Given the description of an element on the screen output the (x, y) to click on. 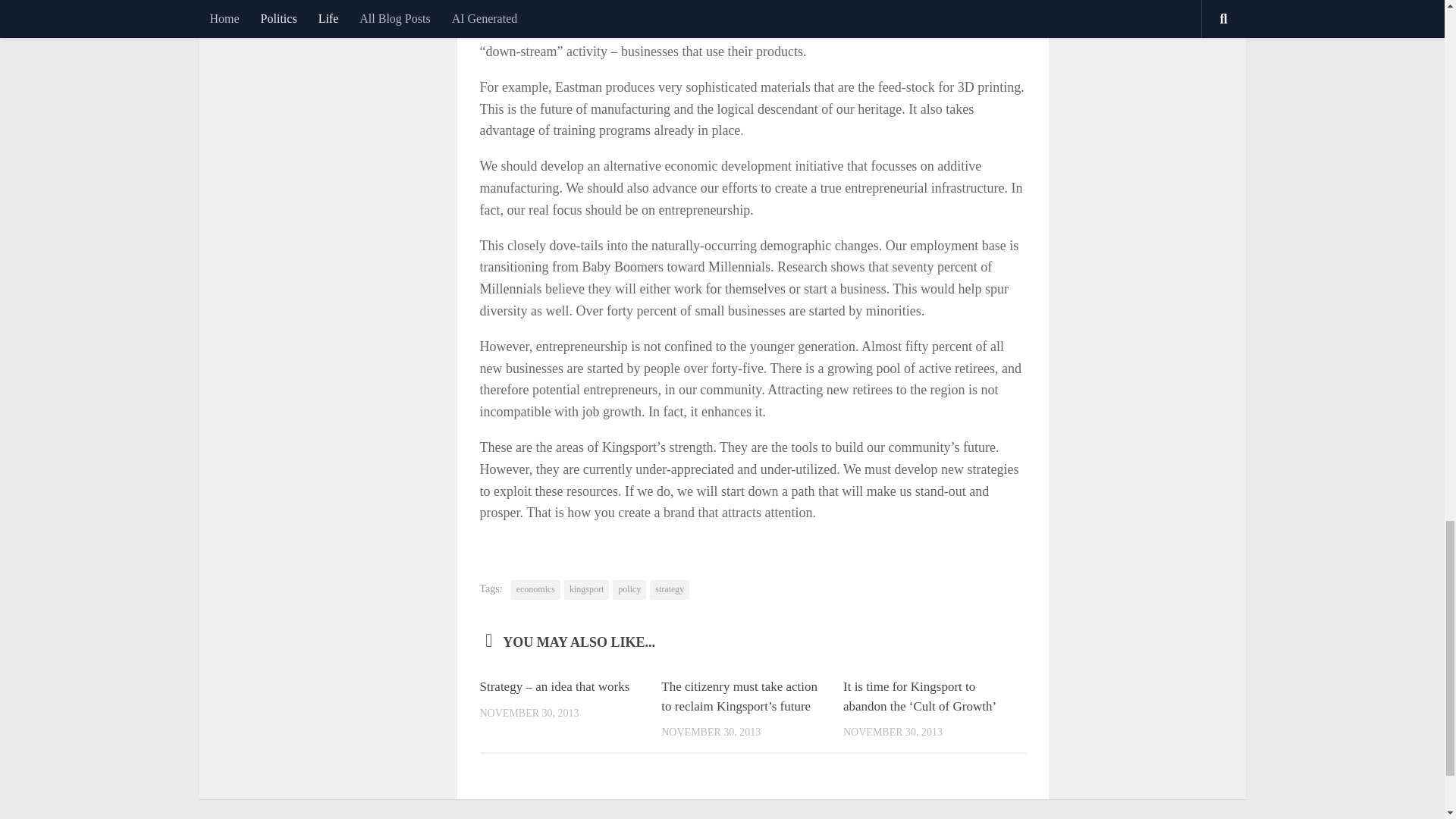
kingsport (586, 589)
strategy (668, 589)
economics (535, 589)
policy (629, 589)
